Given the description of an element on the screen output the (x, y) to click on. 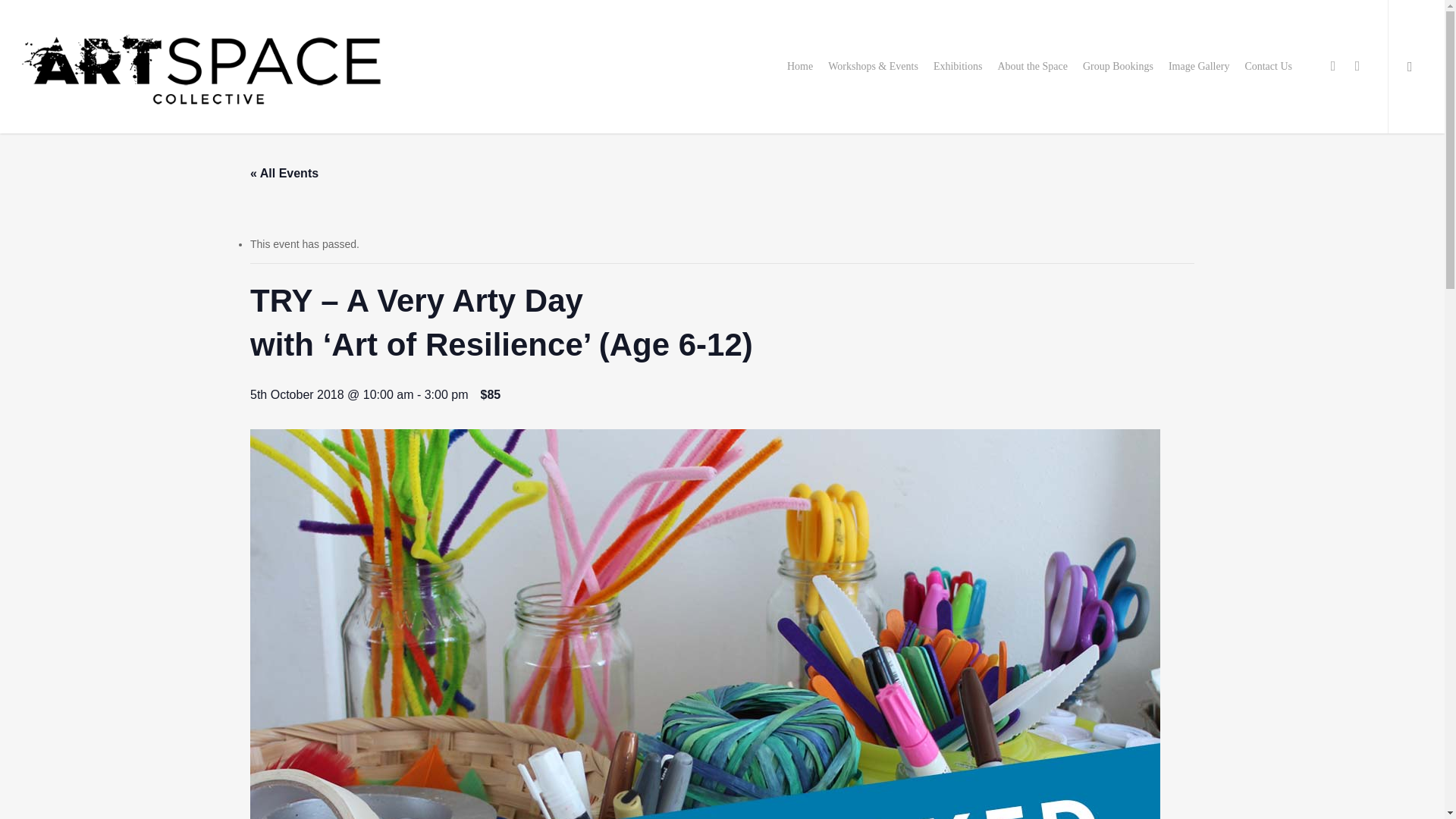
facebook (1332, 66)
Contact Us (1268, 66)
Exhibitions (958, 66)
Image Gallery (1198, 66)
Click to open a larger map (638, 563)
Home (799, 66)
instagram (1357, 66)
About the Space (1032, 66)
Group Bookings (1117, 66)
